Given the description of an element on the screen output the (x, y) to click on. 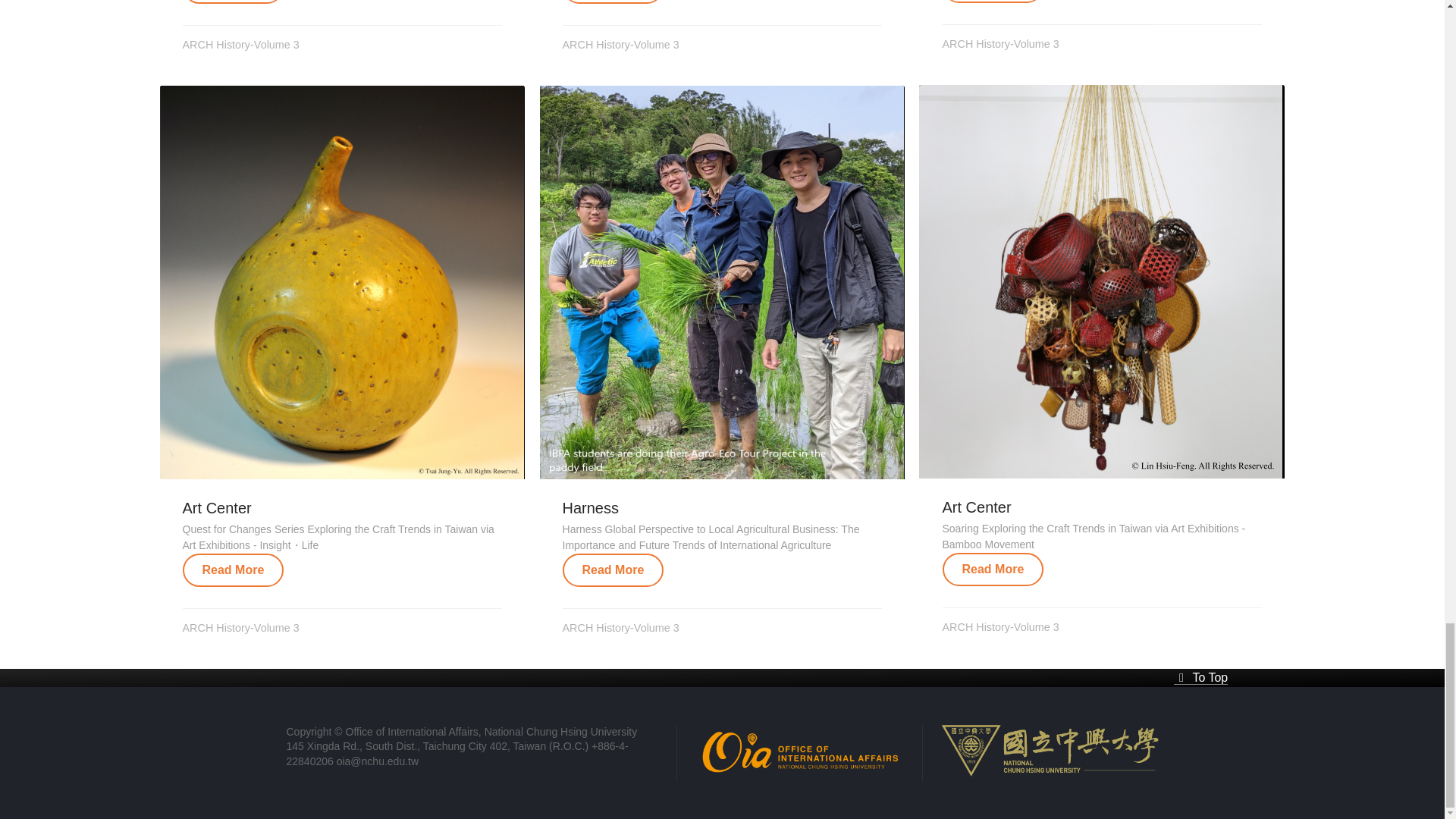
Read More (612, 570)
Read More (992, 569)
Read More (992, 569)
Read More (233, 570)
To Top (1200, 676)
Art Center (217, 507)
Read More (233, 2)
Art Center (976, 506)
Office of International Affairs (798, 751)
Harness (590, 507)
